Given the description of an element on the screen output the (x, y) to click on. 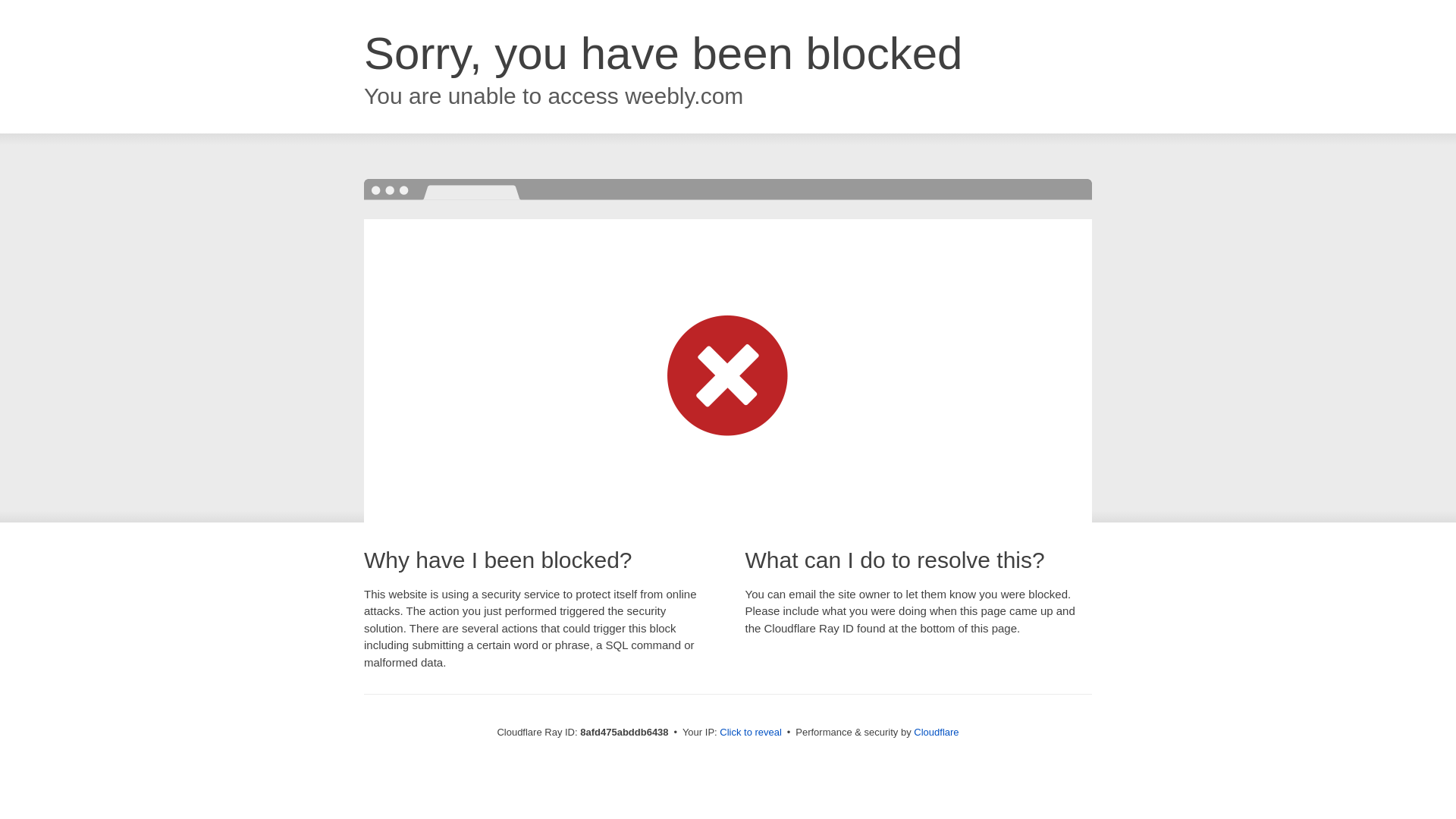
Click to reveal (750, 732)
Cloudflare (936, 731)
